Given the description of an element on the screen output the (x, y) to click on. 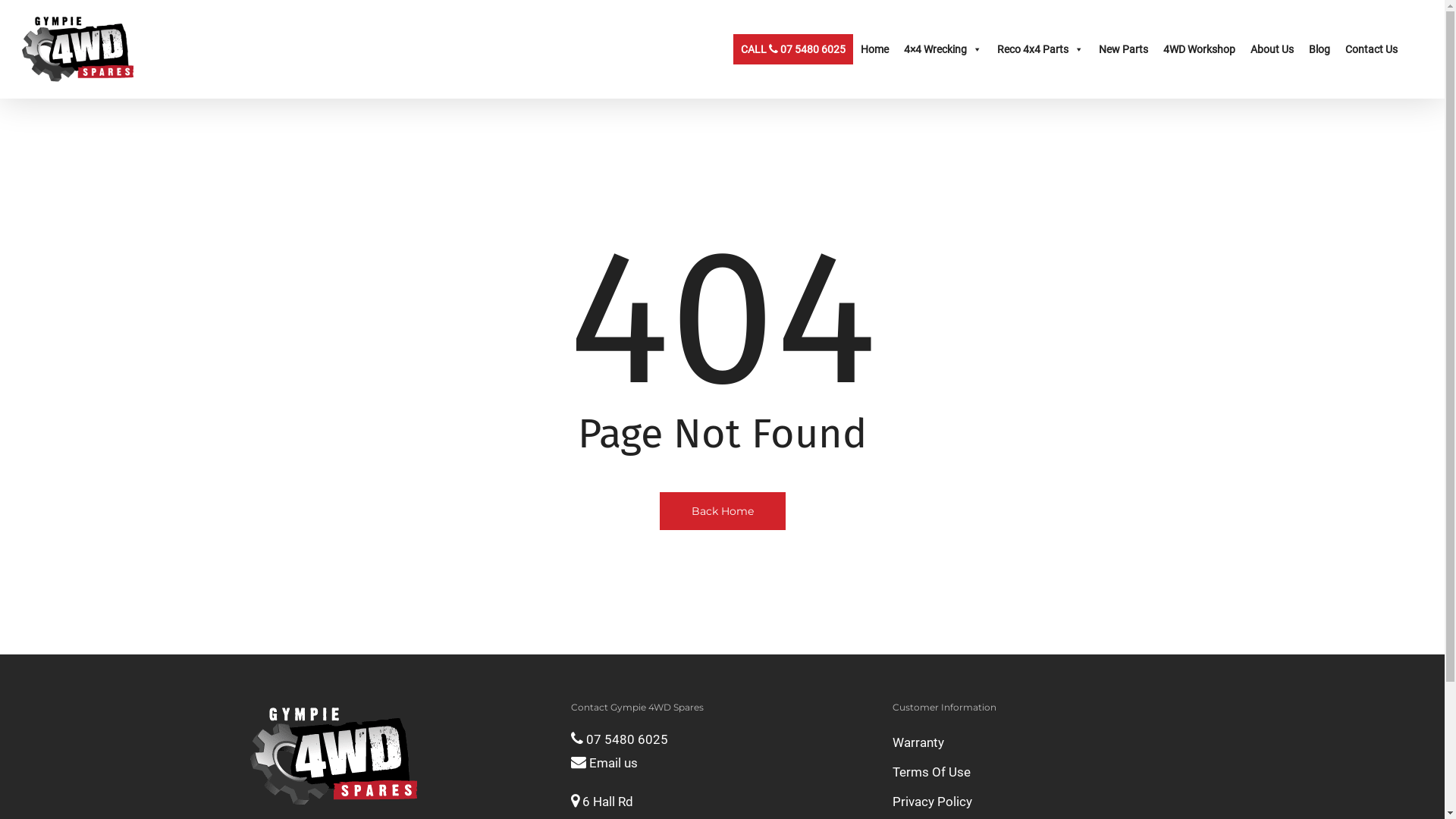
4WD Workshop Element type: text (1198, 49)
Email us Element type: text (604, 762)
Reco 4x4 Parts Element type: text (1040, 49)
Blog Element type: text (1319, 49)
New Parts Element type: text (1123, 49)
Warranty Element type: text (1043, 742)
CALL 07 5480 6025 Element type: text (793, 49)
Back Home Element type: text (722, 510)
Privacy Policy Element type: text (1043, 801)
Home Element type: text (874, 49)
Terms Of Use Element type: text (1043, 772)
About Us Element type: text (1271, 49)
07 5480 6025 Element type: text (619, 738)
Contact Us Element type: text (1371, 49)
